Given the description of an element on the screen output the (x, y) to click on. 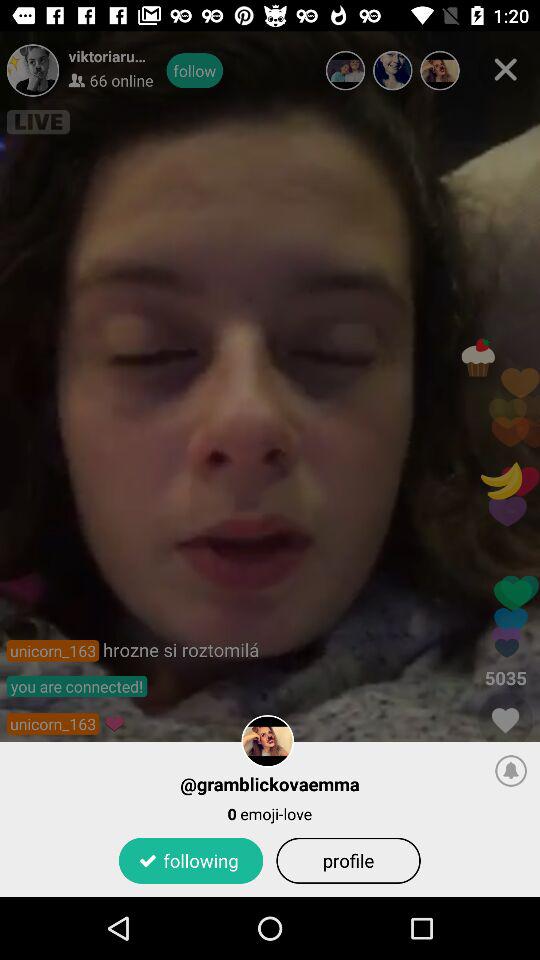
select the app to the right of following item (348, 860)
